Given the description of an element on the screen output the (x, y) to click on. 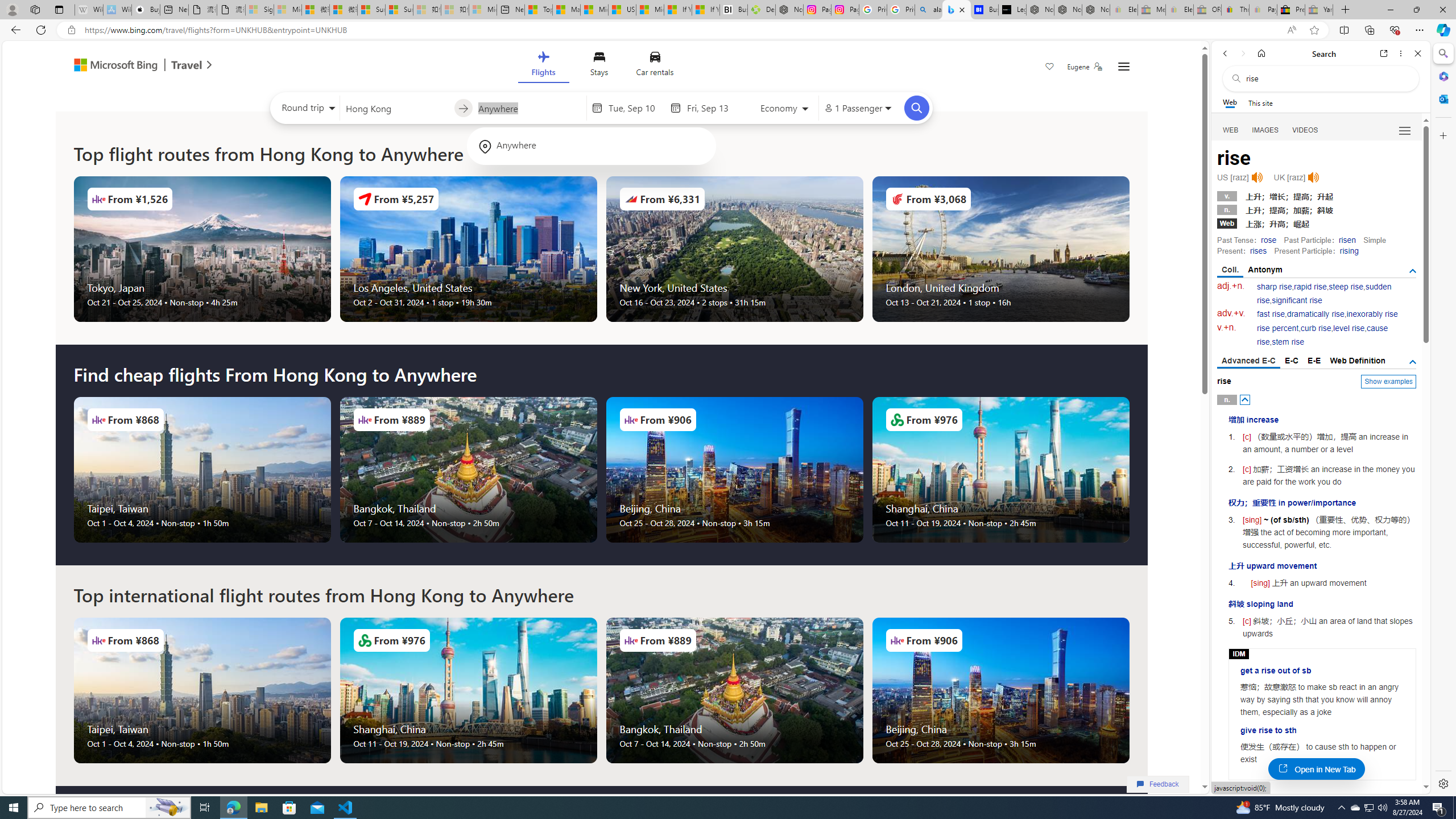
Web scope (1230, 102)
significant rise (1296, 300)
E-E (1314, 360)
Car rentals (654, 65)
Advanced E-C (1248, 361)
Microsoft Bing Travel - Flights (956, 9)
Class: msft-bing-logo msft-bing-logo-desktop (112, 64)
WEB (1231, 130)
This site scope (1259, 102)
Save (1049, 67)
